Given the description of an element on the screen output the (x, y) to click on. 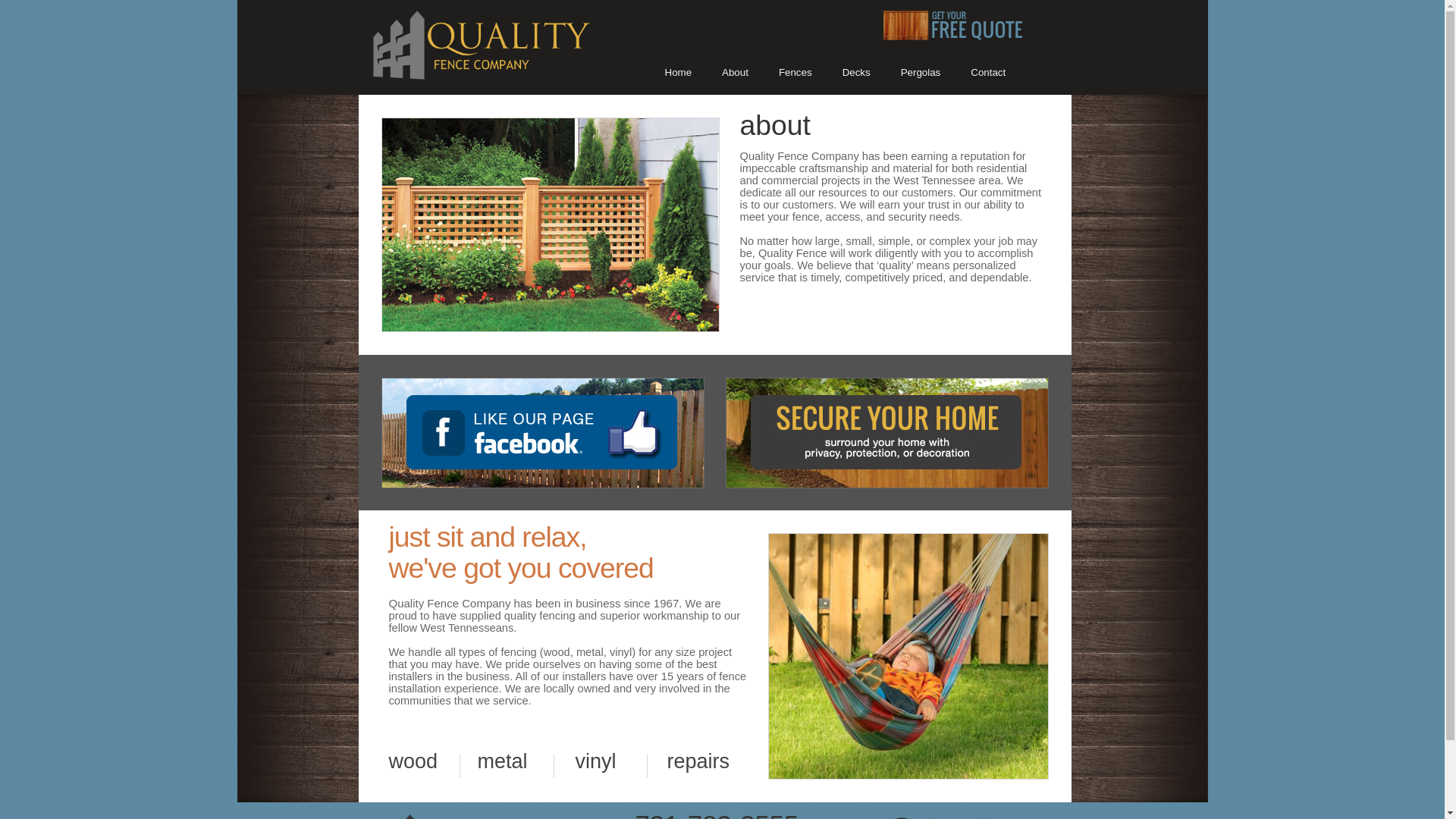
wood (413, 761)
Fences (799, 72)
Decks (859, 72)
repairs (698, 761)
vinyl (595, 761)
Home (681, 72)
Contact (991, 72)
metal (502, 761)
About (738, 72)
Pergolas (924, 72)
